Given the description of an element on the screen output the (x, y) to click on. 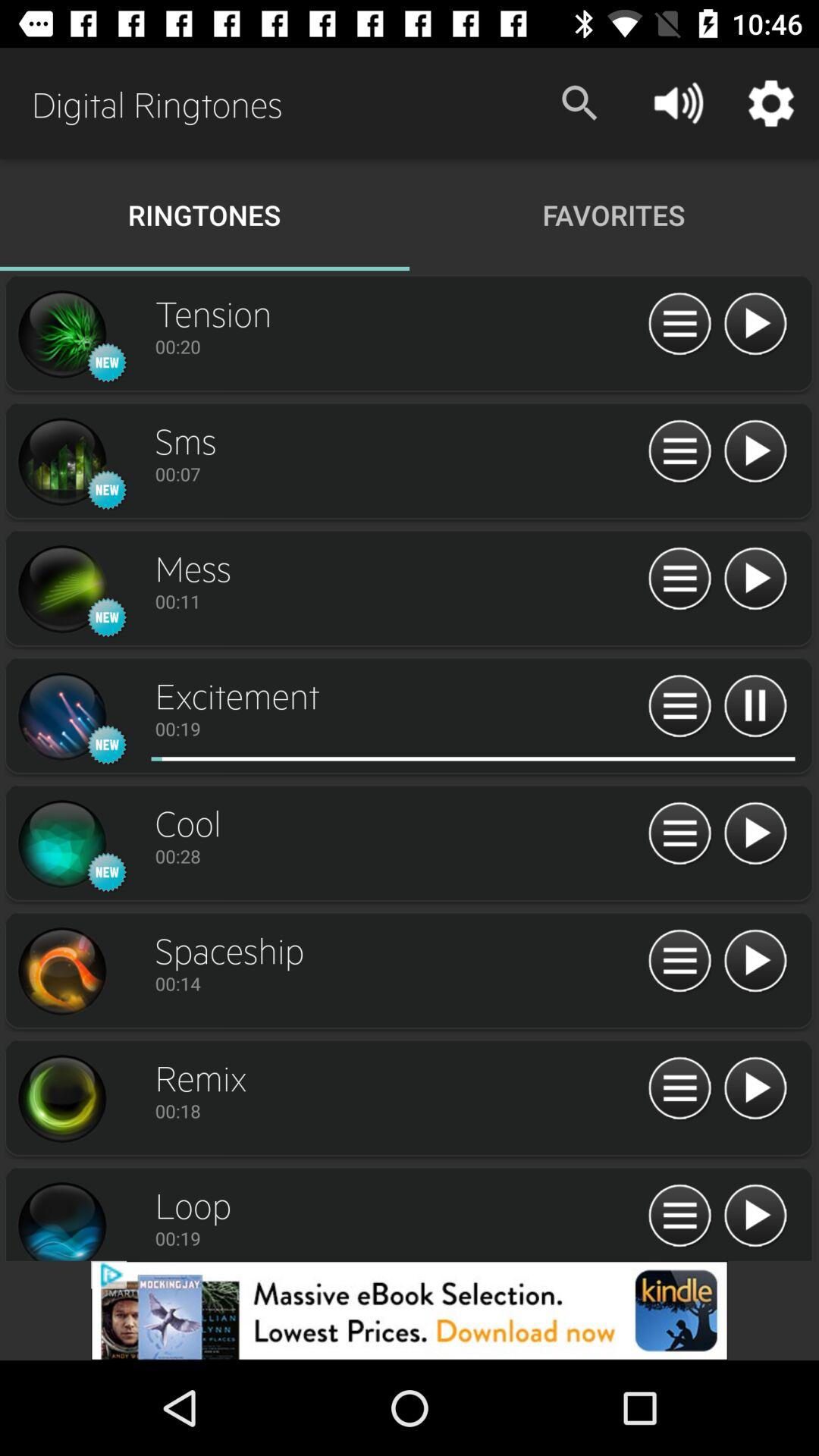
play ringtone (755, 451)
